Given the description of an element on the screen output the (x, y) to click on. 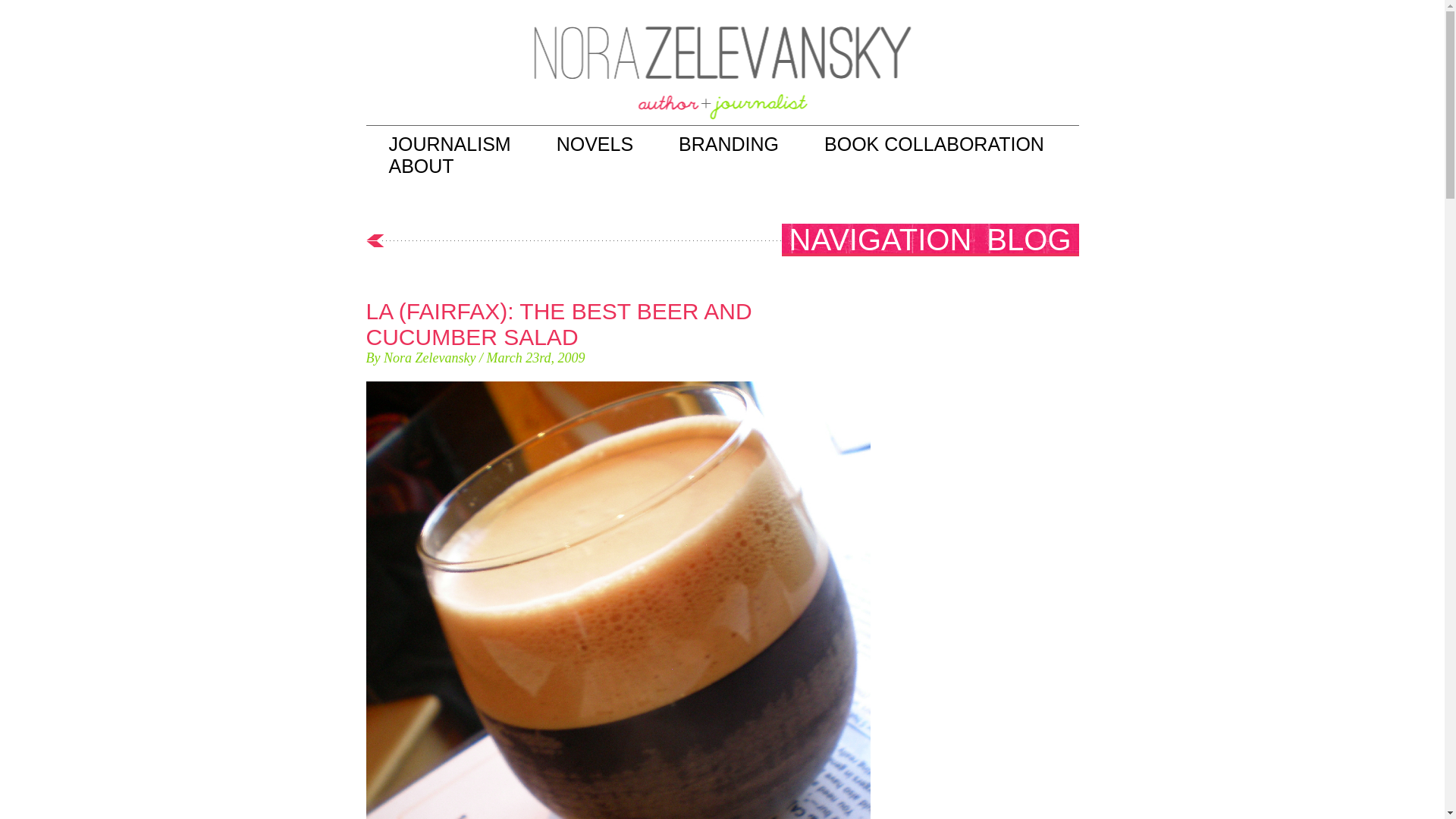
JOURNALISM (449, 143)
BRANDING (728, 143)
BOOK COLLABORATION (933, 143)
NOVELS (594, 143)
ABOUT (420, 165)
